Given the description of an element on the screen output the (x, y) to click on. 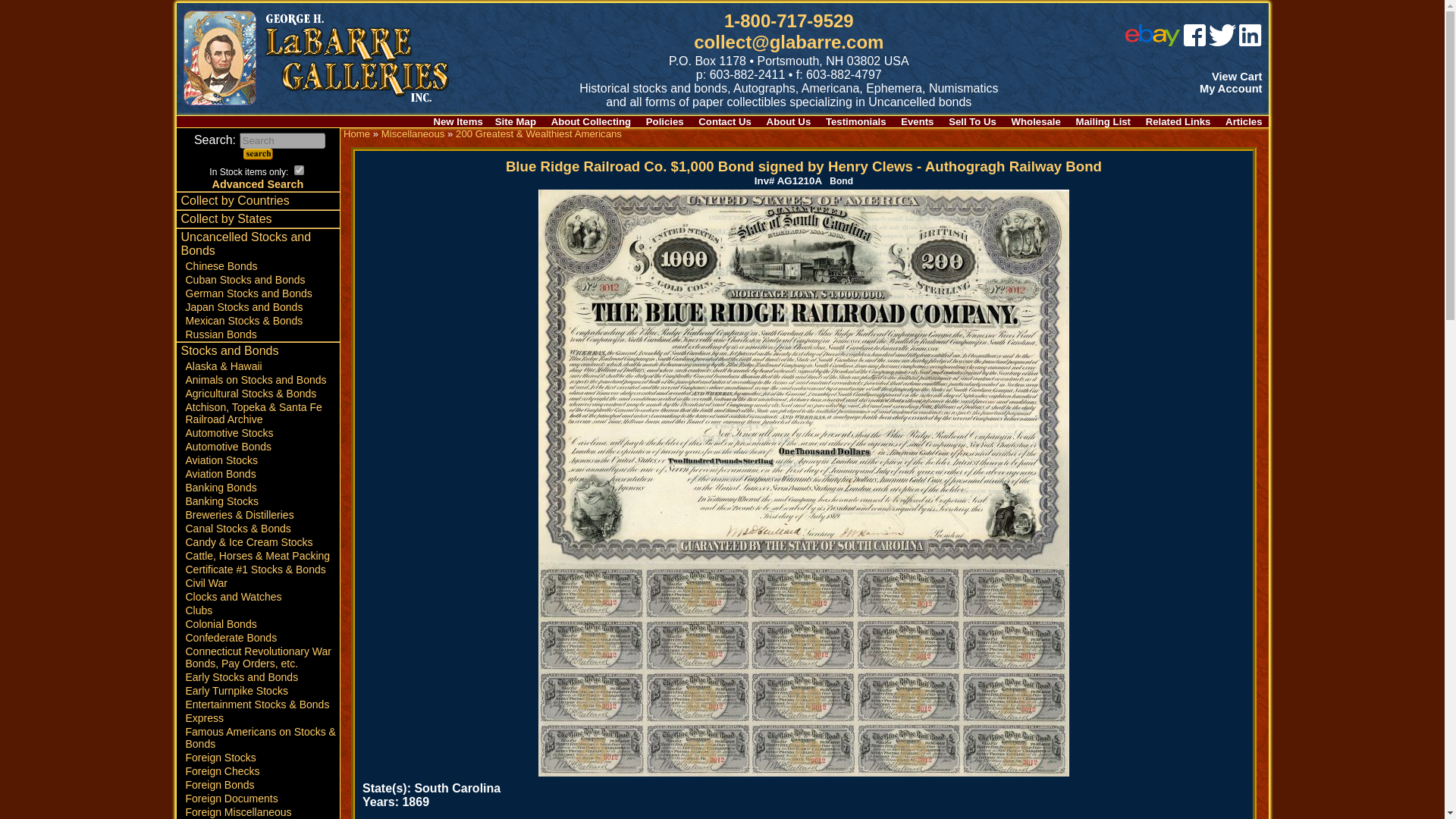
Events (917, 121)
Related Links (1178, 121)
Testimonials (855, 121)
1-800-717-9529 (788, 20)
Site Map (515, 121)
Collect by Countries (258, 200)
Policies (665, 121)
German Stocks and Bonds (257, 293)
Advanced Search (257, 184)
Japan Stocks and Bonds (257, 306)
Animals on Stocks and Bonds (257, 379)
Contact Us (724, 121)
Cuban Stocks and Bonds (257, 279)
About Us (788, 121)
Stocks and Bonds (258, 351)
